Given the description of an element on the screen output the (x, y) to click on. 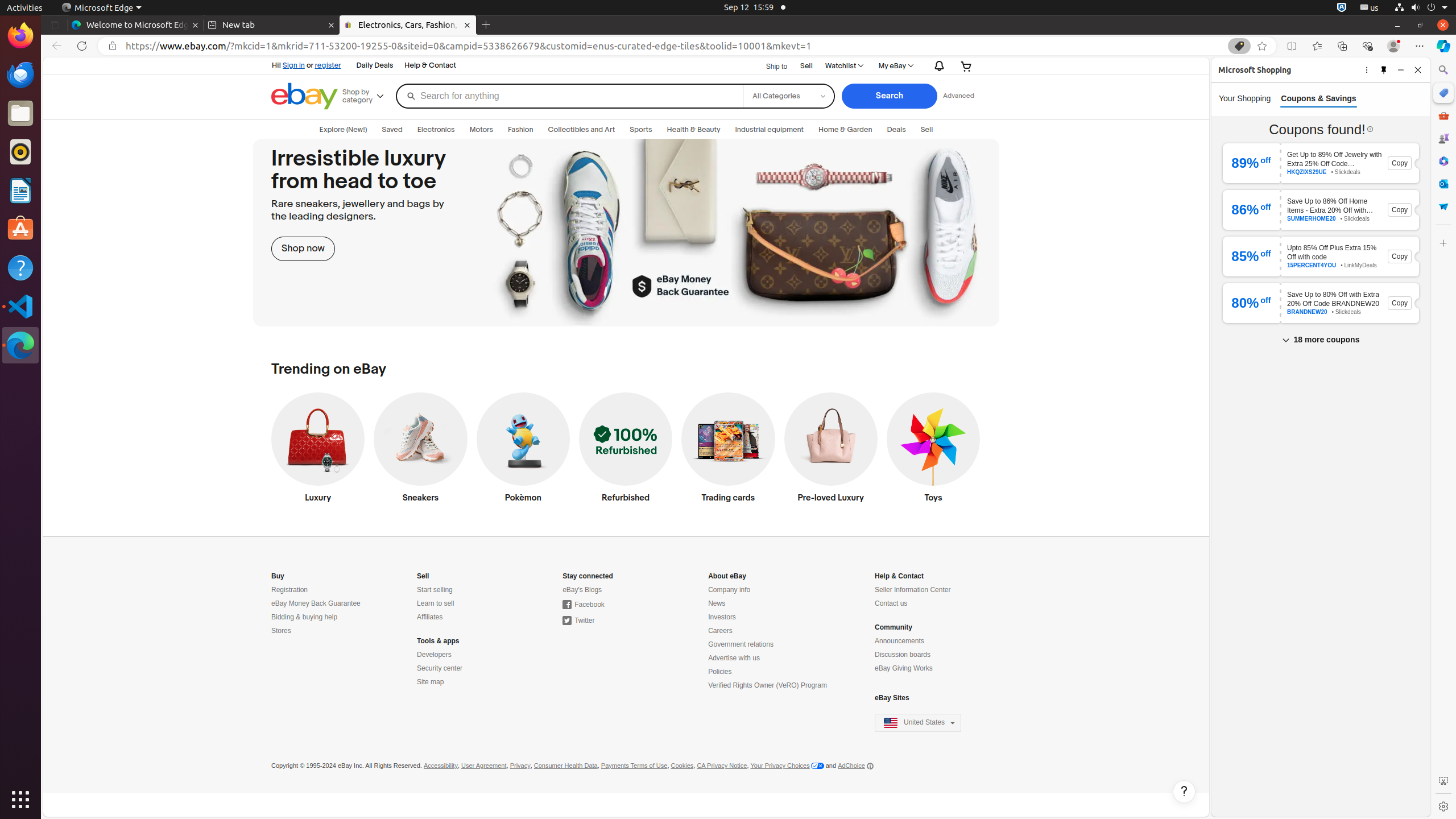
Industrial equipment Element type: link (769, 129)
Home & Garden Element type: link (845, 129)
Site map Element type: link (430, 681)
Tools Element type: push-button (1443, 115)
Pokèmon Element type: link (522, 450)
